Given the description of an element on the screen output the (x, y) to click on. 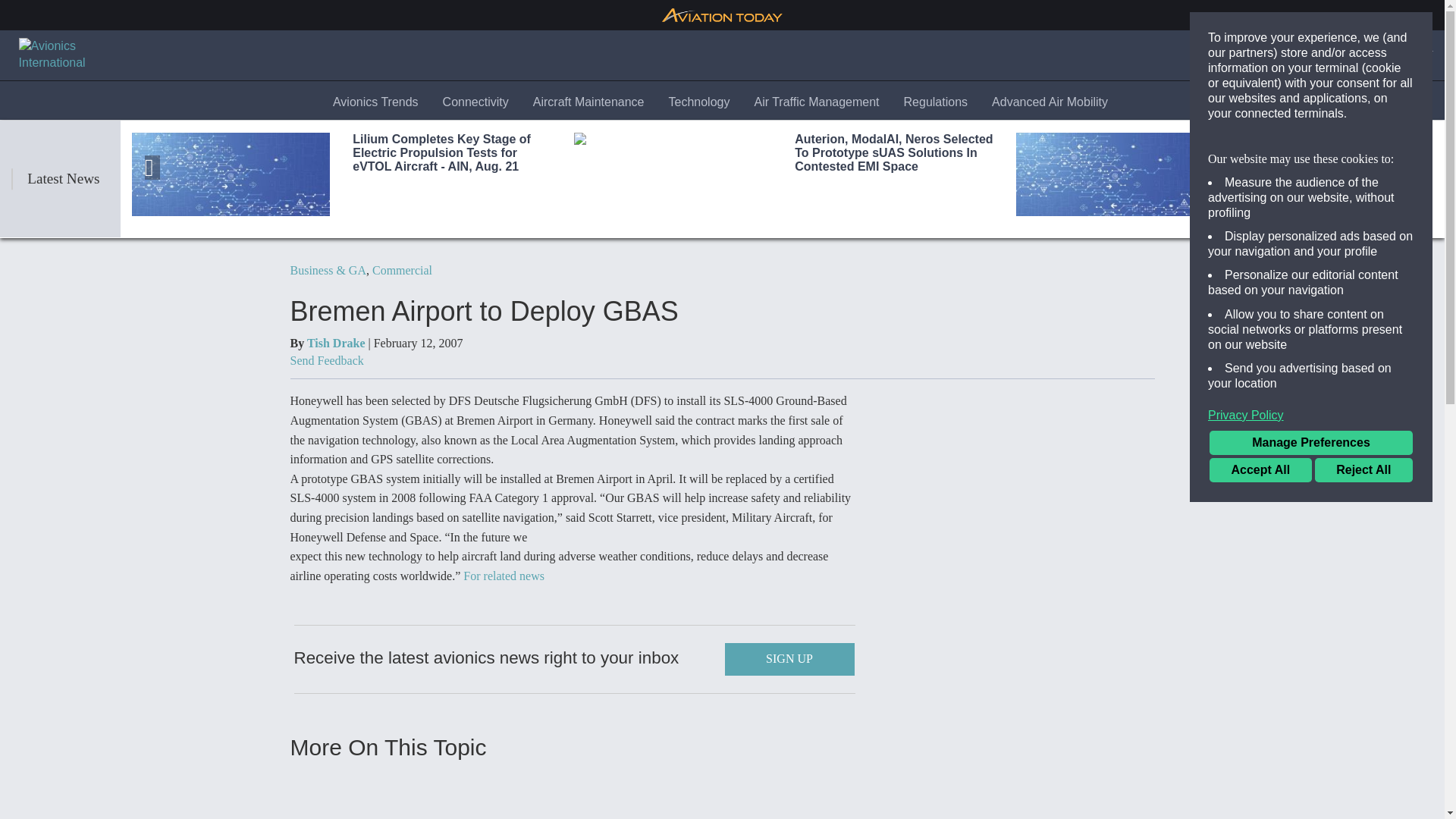
Accept All (1260, 469)
Reject All (1363, 469)
Privacy Policy (1310, 415)
Search (1274, 55)
Subscribe (1342, 55)
Manage Preferences (1310, 442)
